Given the description of an element on the screen output the (x, y) to click on. 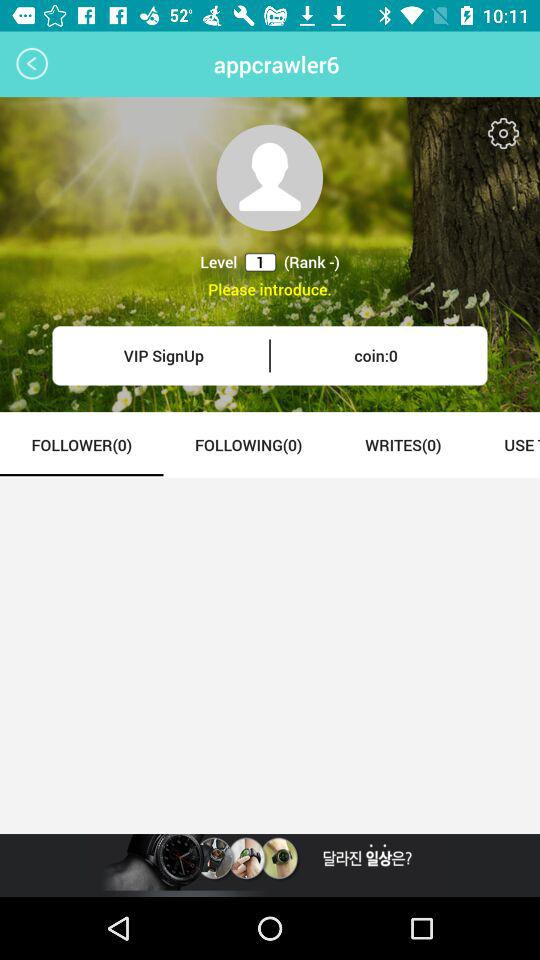
opens settings menu (503, 133)
